Given the description of an element on the screen output the (x, y) to click on. 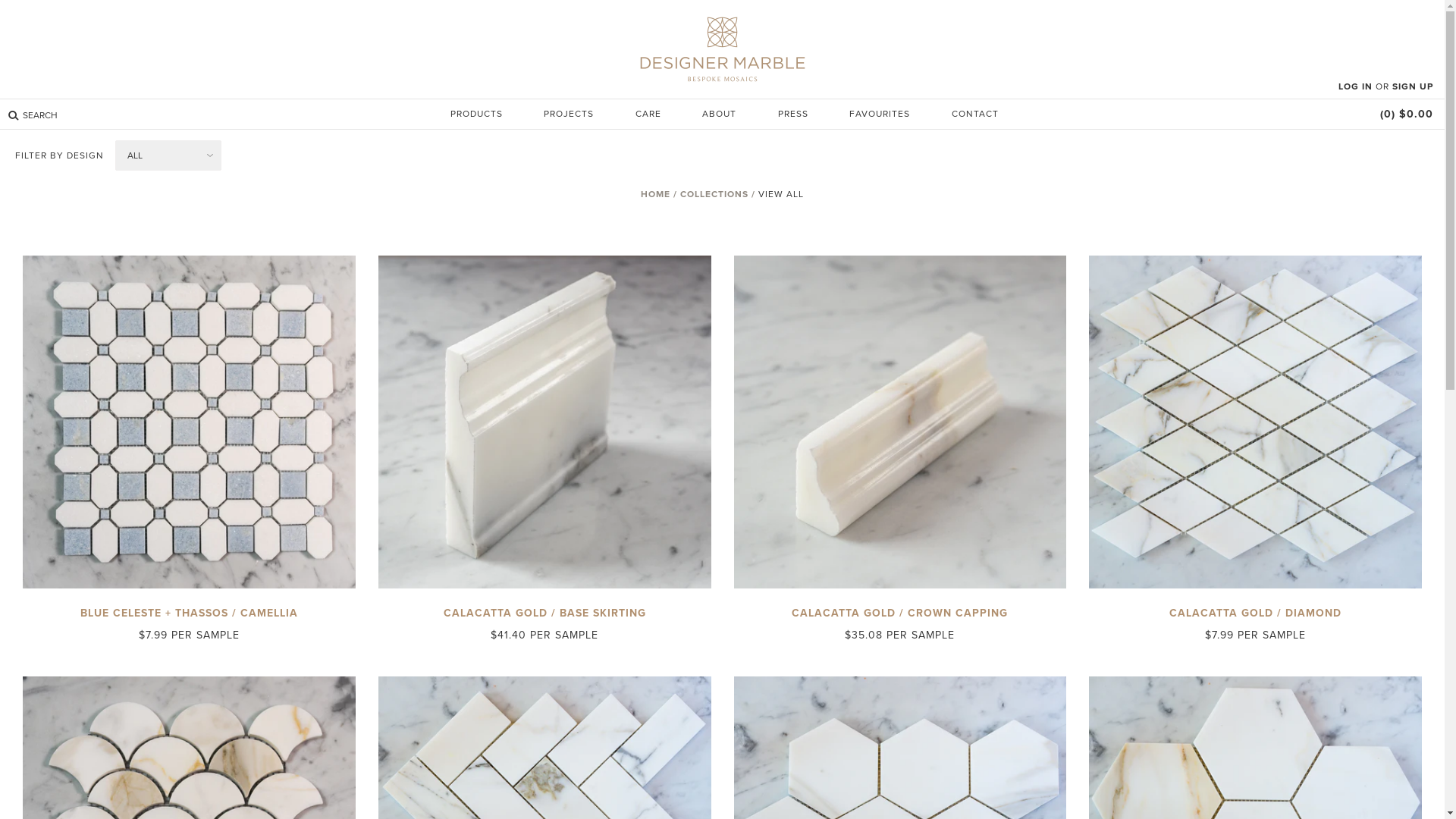
CONTACT Element type: text (973, 112)
PROJECTS Element type: text (568, 112)
CARE Element type: text (648, 112)
CALACATTA GOLD / DIAMOND
$7.99 PER SAMPLE Element type: text (1254, 528)
Designer Marble Element type: hover (721, 47)
BLUE CELESTE + THASSOS / CAMELLIA
$7.99 PER SAMPLE Element type: text (188, 528)
SIGN UP Element type: text (1412, 86)
PRESS Element type: text (793, 112)
(0) $0.00 Element type: text (1406, 113)
COLLECTIONS Element type: text (717, 193)
CALACATTA GOLD / BASE SKIRTING
$41.40 PER SAMPLE Element type: text (544, 528)
LOG IN Element type: text (1355, 86)
FAVOURITES Element type: text (879, 112)
CALACATTA GOLD / CROWN CAPPING
$35.08 PER SAMPLE Element type: text (900, 528)
ABOUT Element type: text (719, 112)
PRODUCTS Element type: text (476, 112)
HOME Element type: text (658, 193)
